Given the description of an element on the screen output the (x, y) to click on. 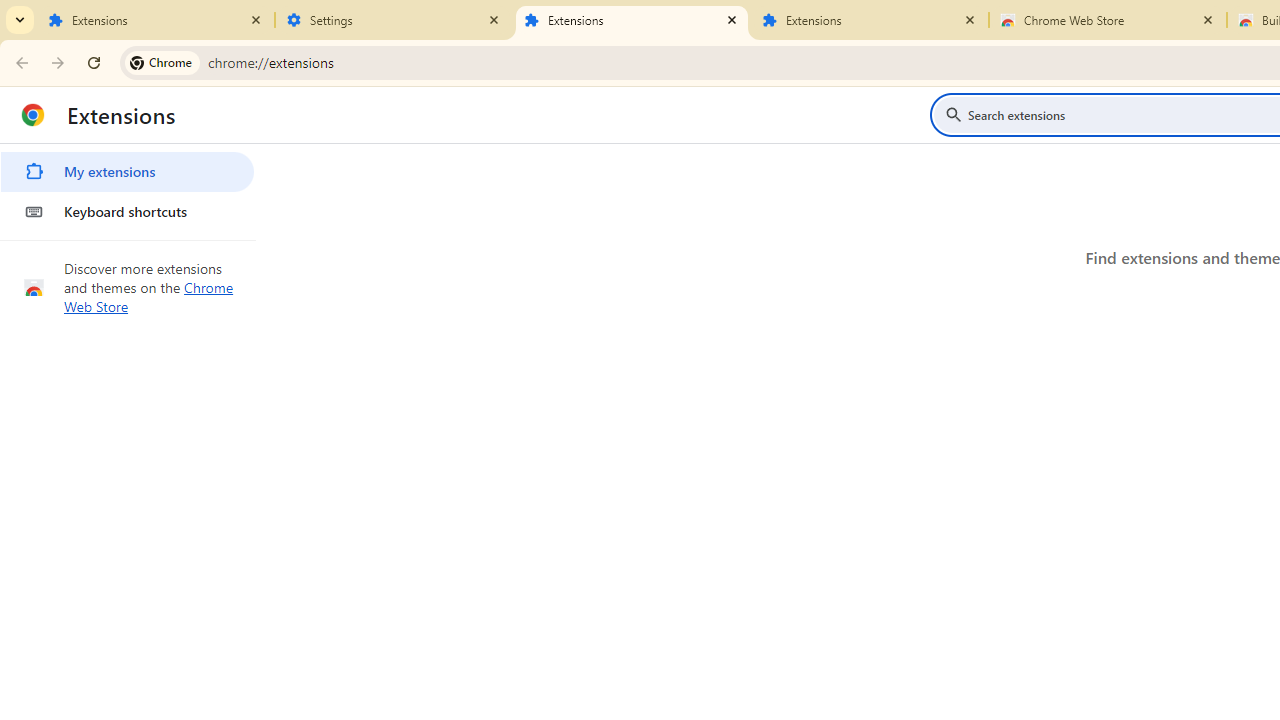
AutomationID: sectionMenu (128, 187)
Extensions (156, 20)
Settings (394, 20)
Extensions (870, 20)
Chrome Web Store (149, 296)
Extensions (632, 20)
